Given the description of an element on the screen output the (x, y) to click on. 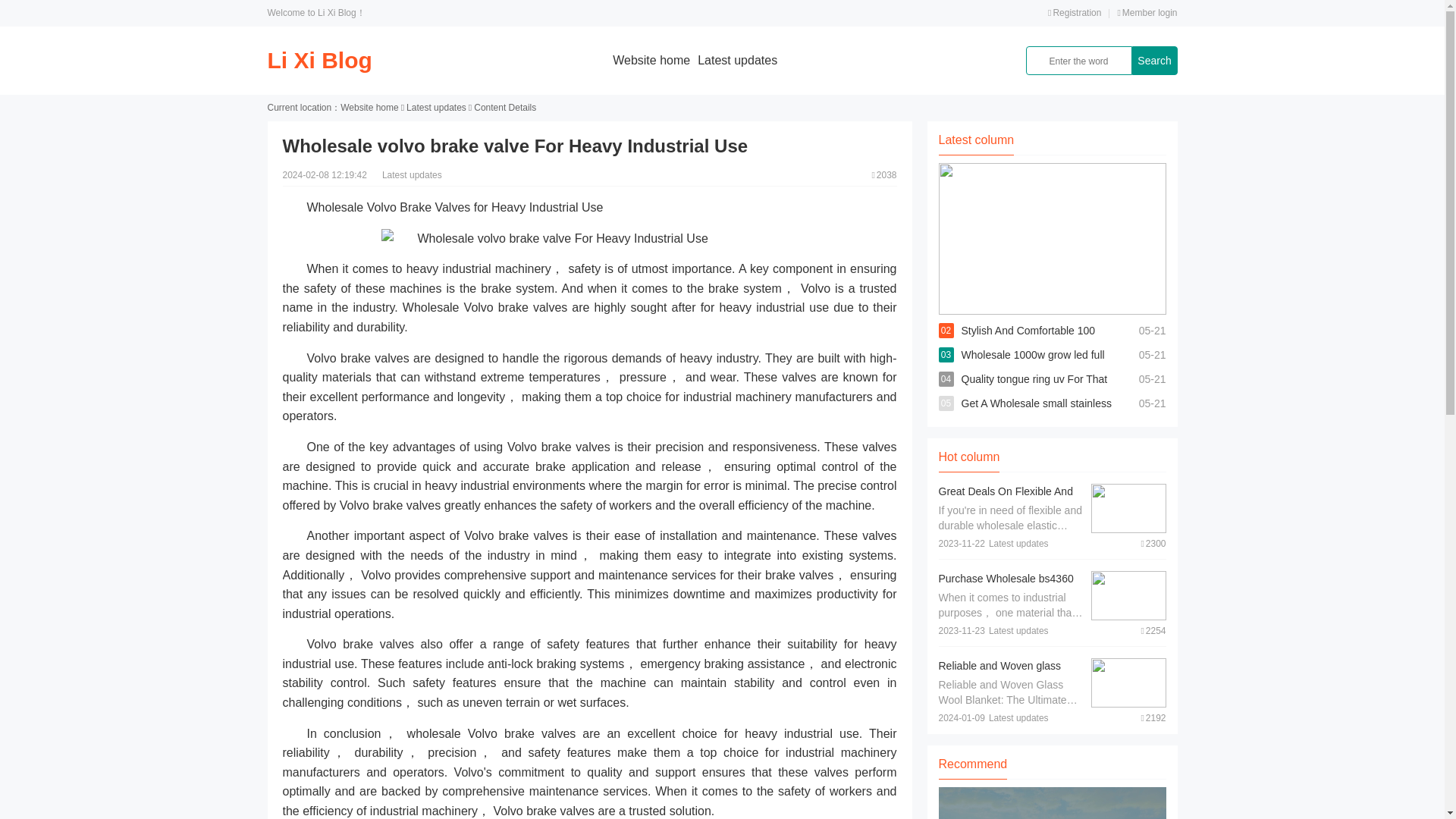
Reliable and Woven glass wool blanket soundproof (1000, 673)
Stylish And Comfortable 100 viscose hijab (1028, 342)
Website home (651, 60)
Li Xi Blog (318, 59)
Latest updates (737, 60)
Registration (1074, 12)
Website home (368, 107)
